Given the description of an element on the screen output the (x, y) to click on. 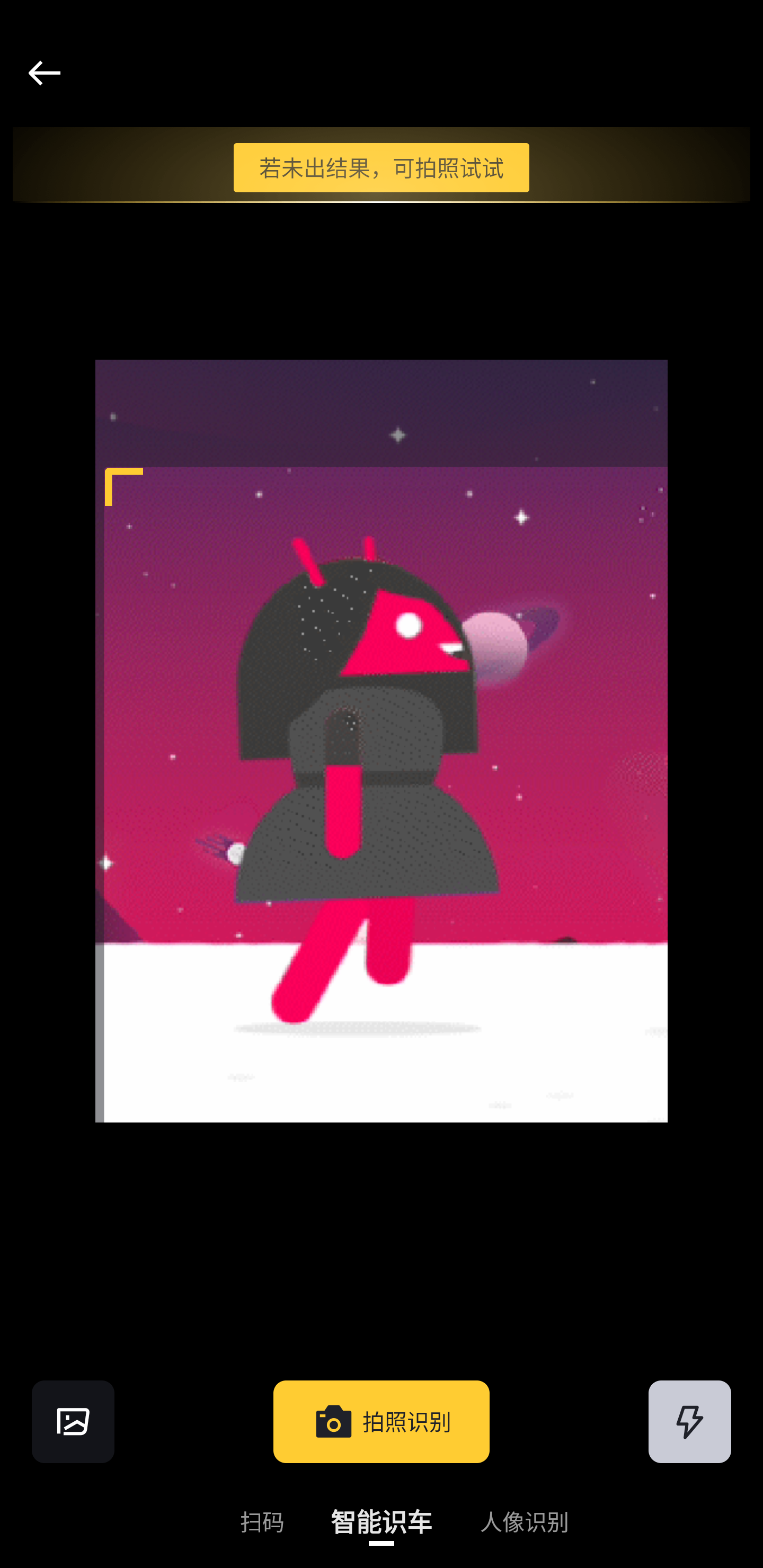
 (44, 72)
 (73, 1420)
拍照识别 (381, 1420)
 (689, 1420)
